Given the description of an element on the screen output the (x, y) to click on. 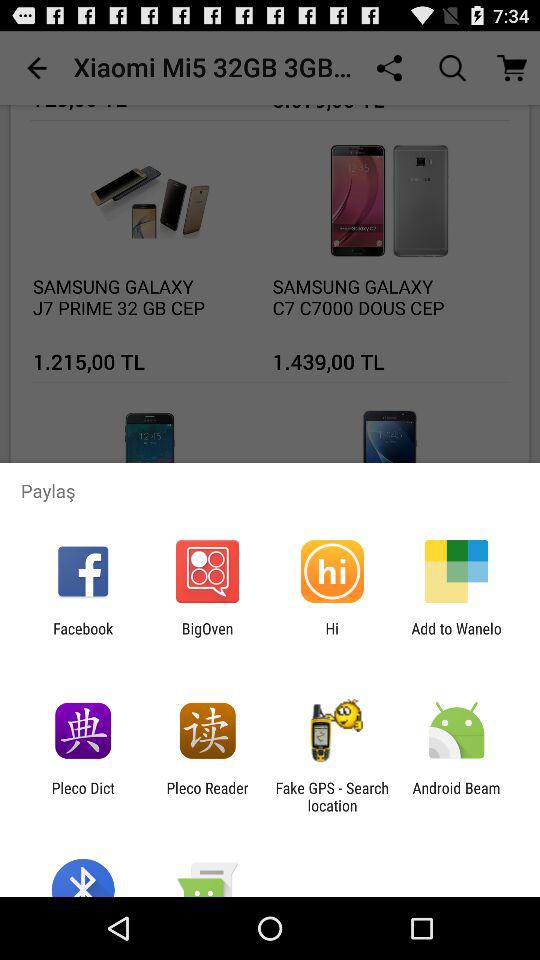
swipe until hi (331, 637)
